Given the description of an element on the screen output the (x, y) to click on. 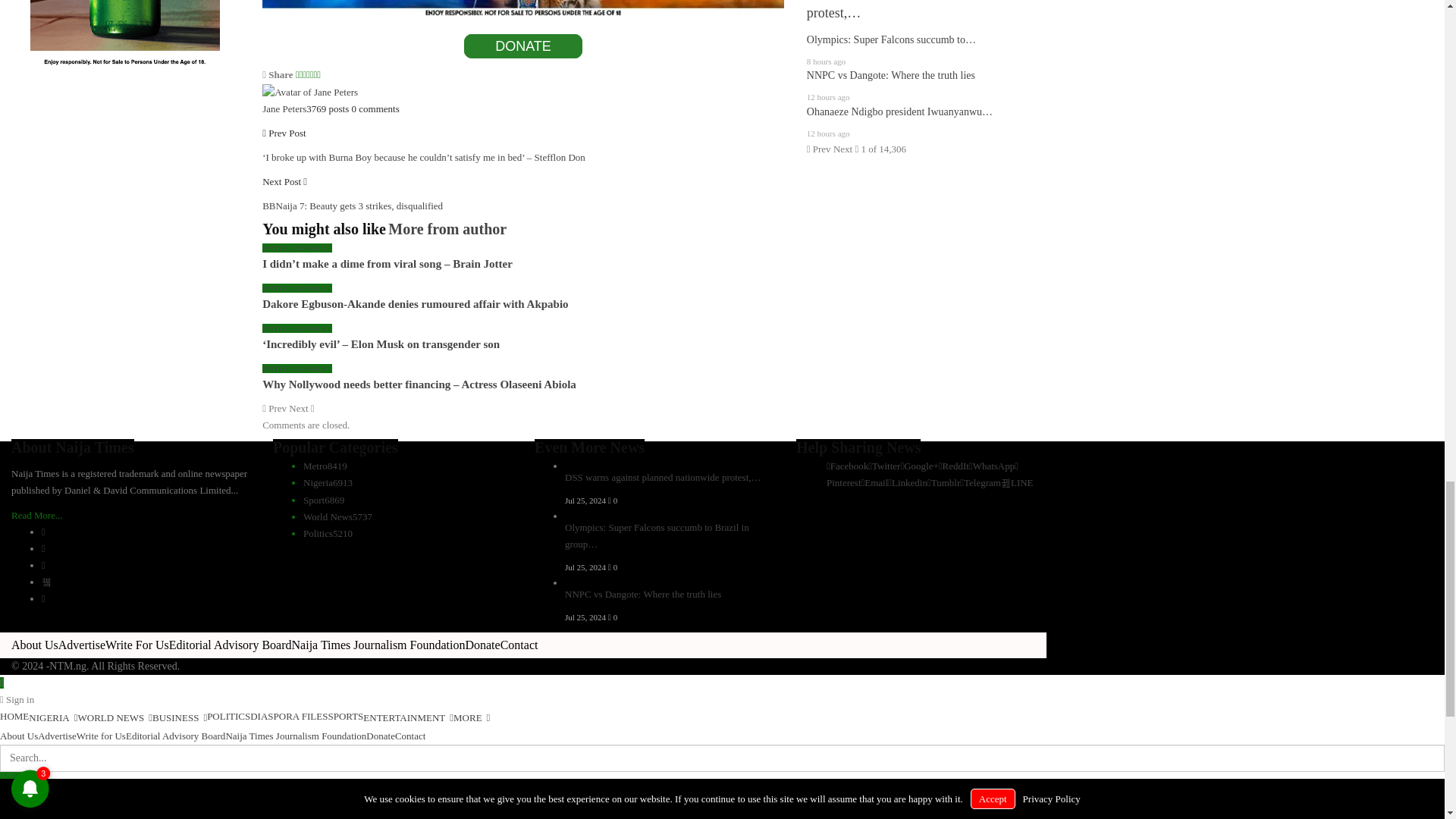
Browse Author Articles (310, 91)
Previous (275, 408)
Next (301, 408)
Dakore Egbuson-Akande denies rumoured affair with Akpabio (414, 304)
